Given the description of an element on the screen output the (x, y) to click on. 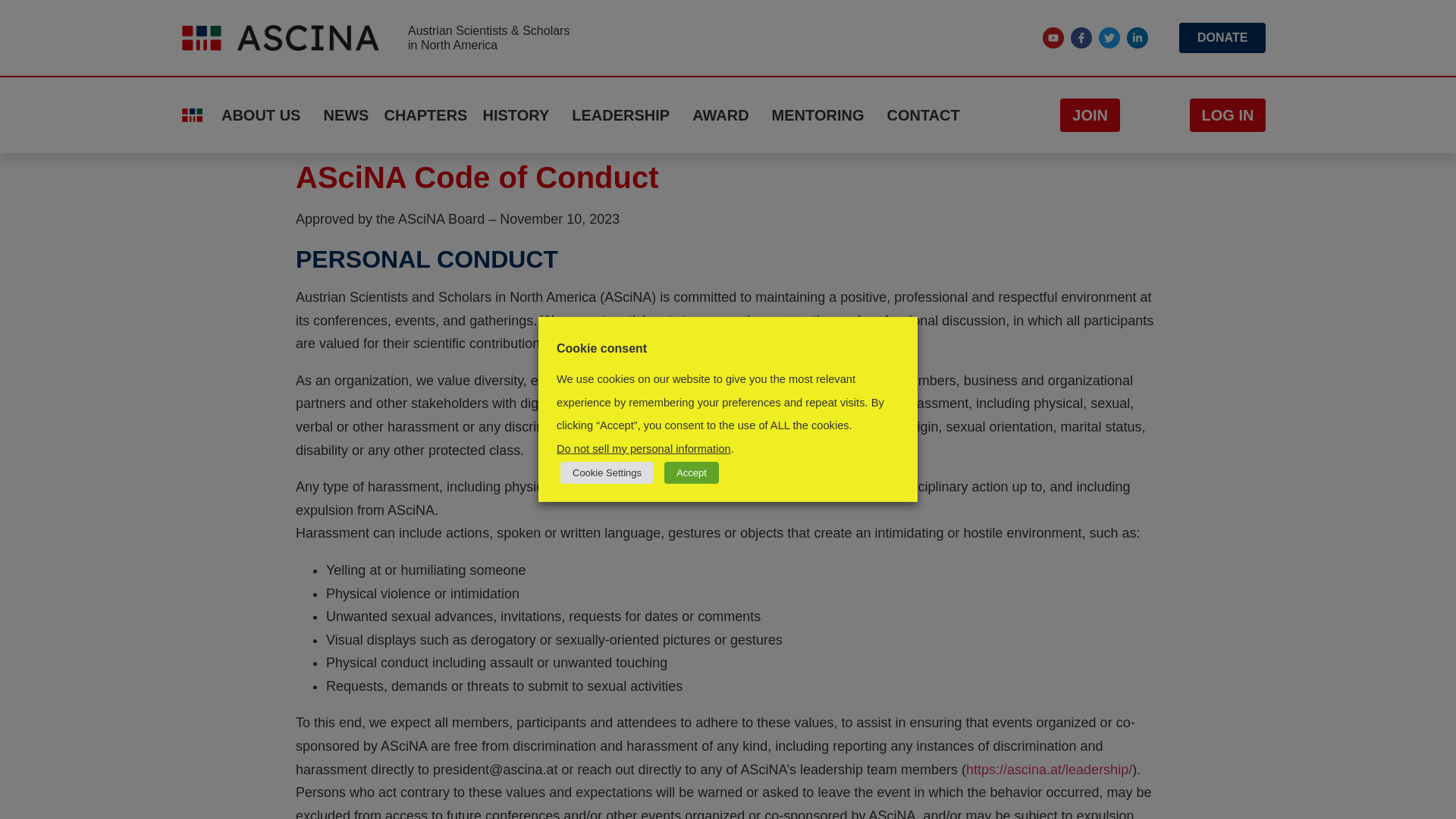
LEADERSHIP (624, 114)
DONATE (1222, 37)
CHAPTERS (425, 114)
ABOUT US (264, 114)
MENTORING (821, 114)
CONTACT (922, 114)
NEWS (345, 114)
AWARD (724, 114)
HISTORY (518, 114)
ascina-web-icon-Element 5 (192, 114)
